Given the description of an element on the screen output the (x, y) to click on. 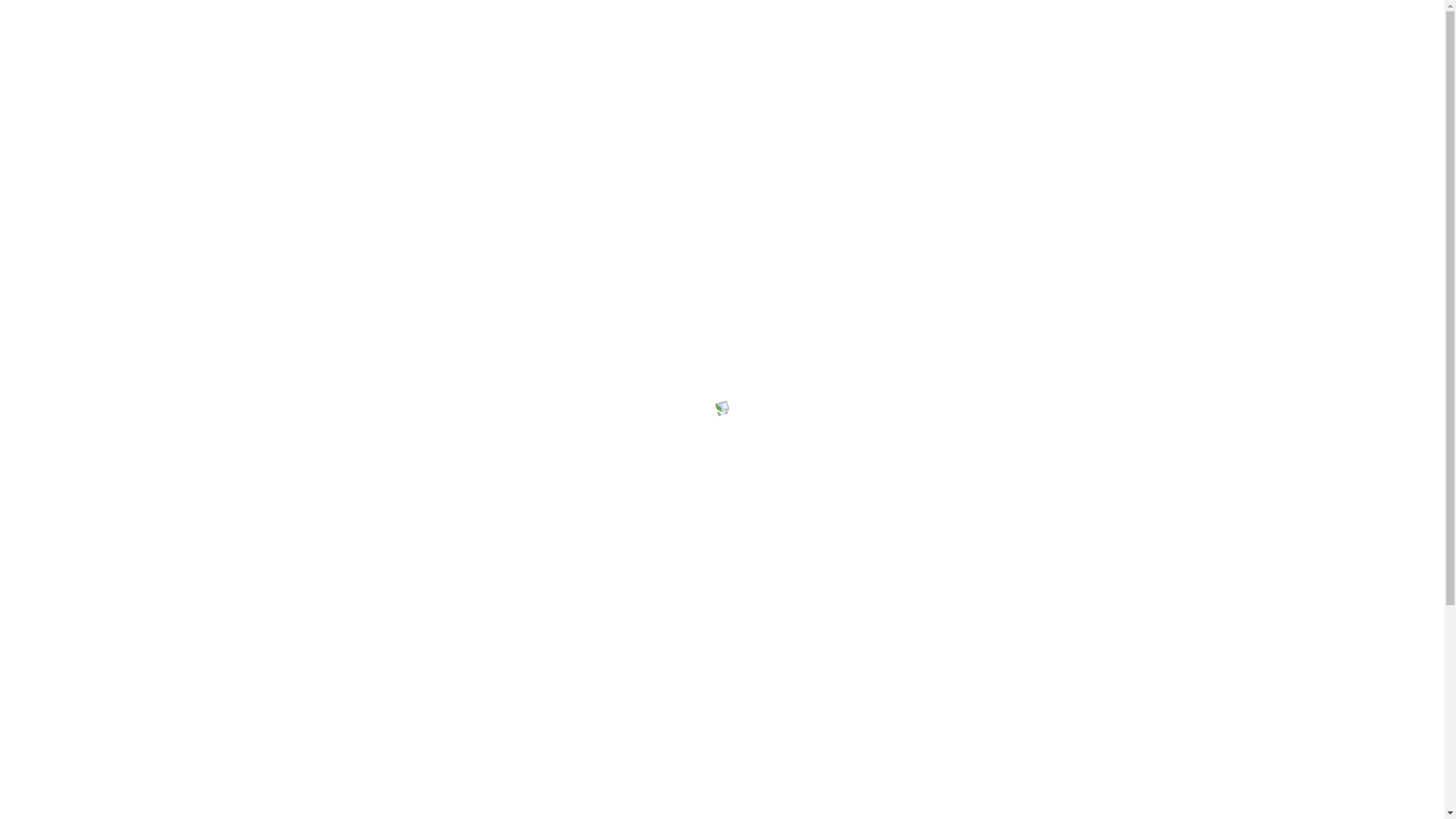
info@comforthotel.by Element type: text (643, 22)
reception.comfort Element type: text (784, 22)
+375 44 575-08-00 Element type: text (1127, 63)
